Given the description of an element on the screen output the (x, y) to click on. 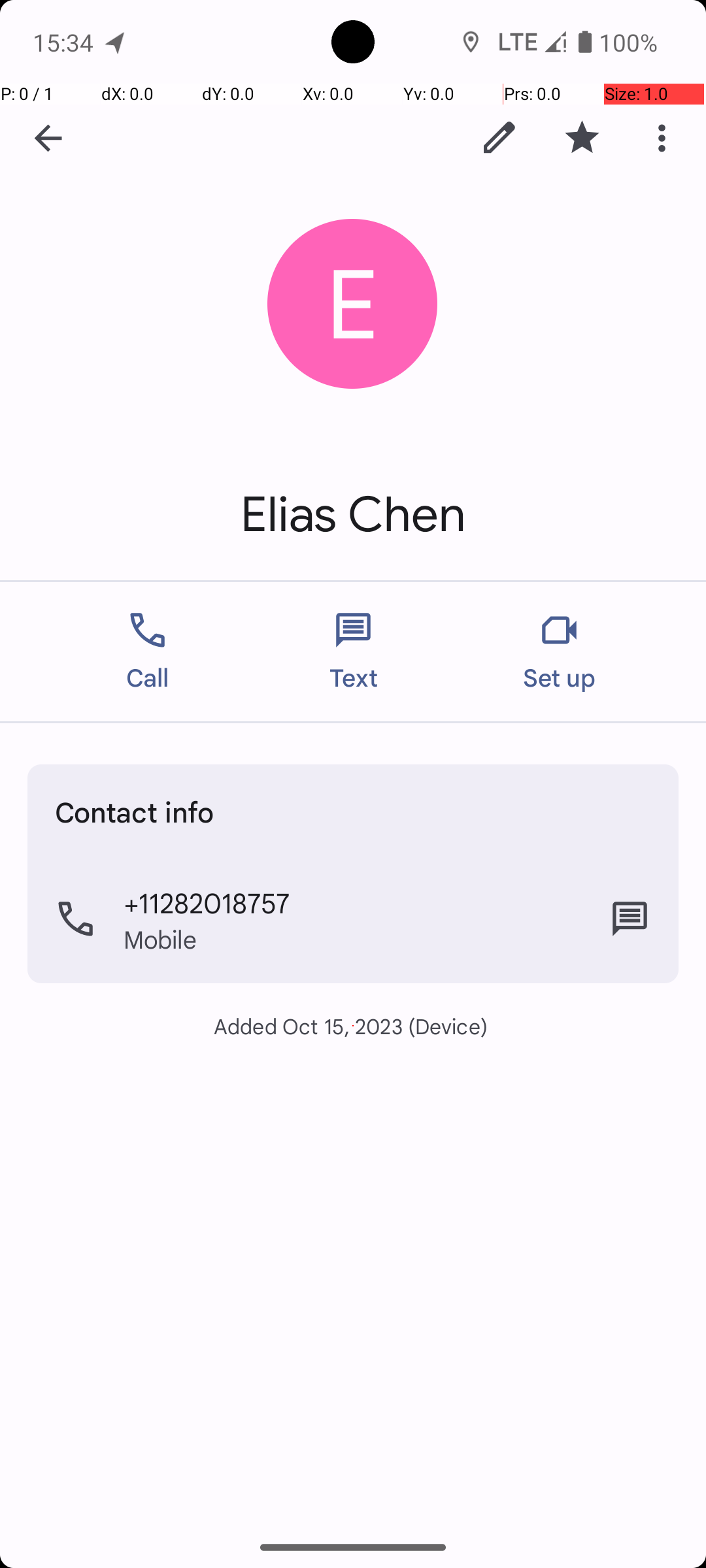
Set up Element type: android.widget.TextView (559, 651)
Elias Chen Element type: android.widget.TextView (352, 514)
Call Mobile +11282018757 Element type: android.widget.RelativeLayout (352, 919)
Added Oct 15, 2023 (Device)  Element type: android.widget.TextView (352, 1025)
+11282018757 Element type: android.widget.TextView (206, 901)
Text Mobile +11282018757 Element type: android.widget.Button (629, 919)
